Given the description of an element on the screen output the (x, y) to click on. 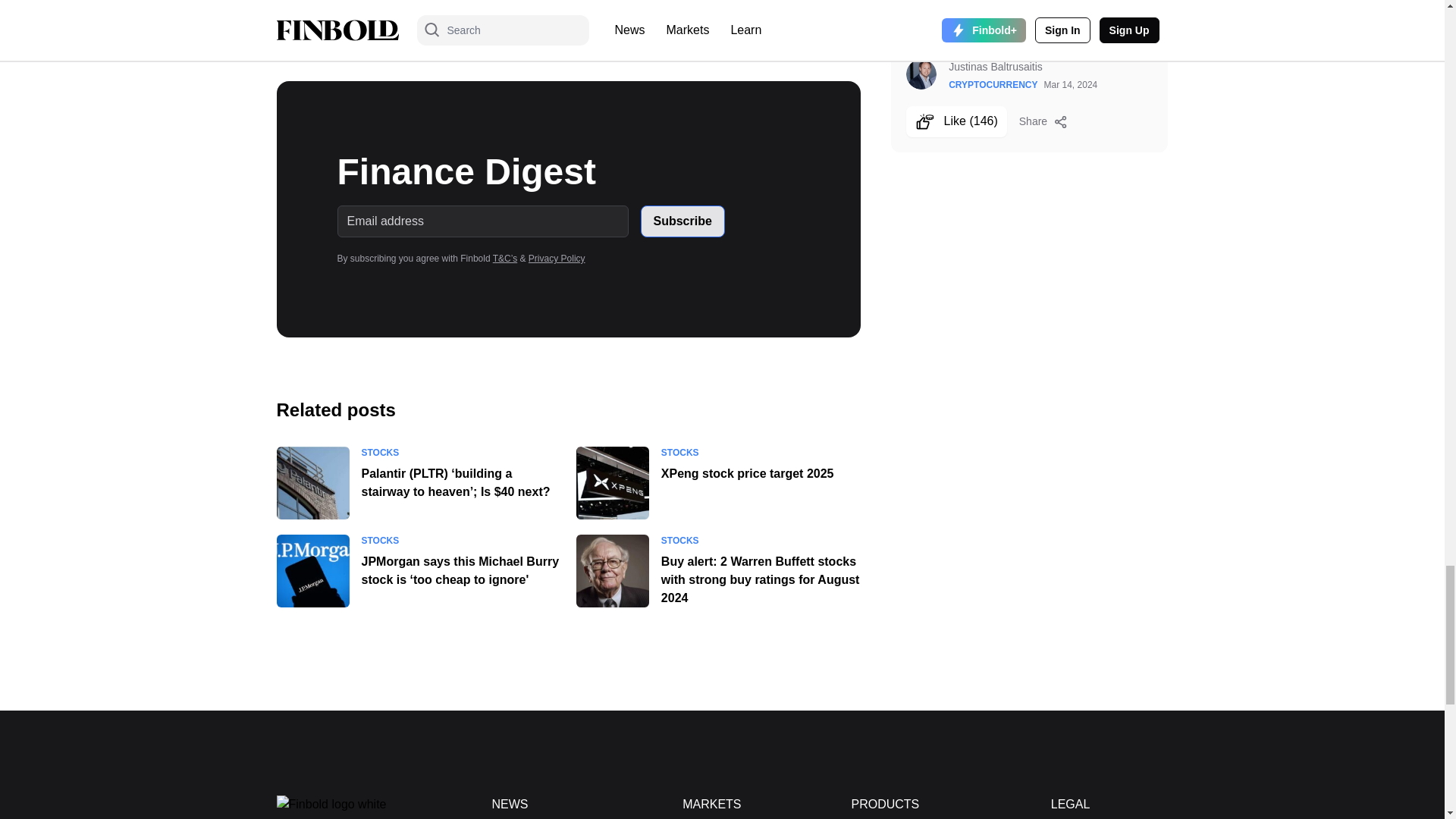
XPeng stock price target 2025 (612, 482)
XPeng stock price target 2025 (747, 472)
